Given the description of an element on the screen output the (x, y) to click on. 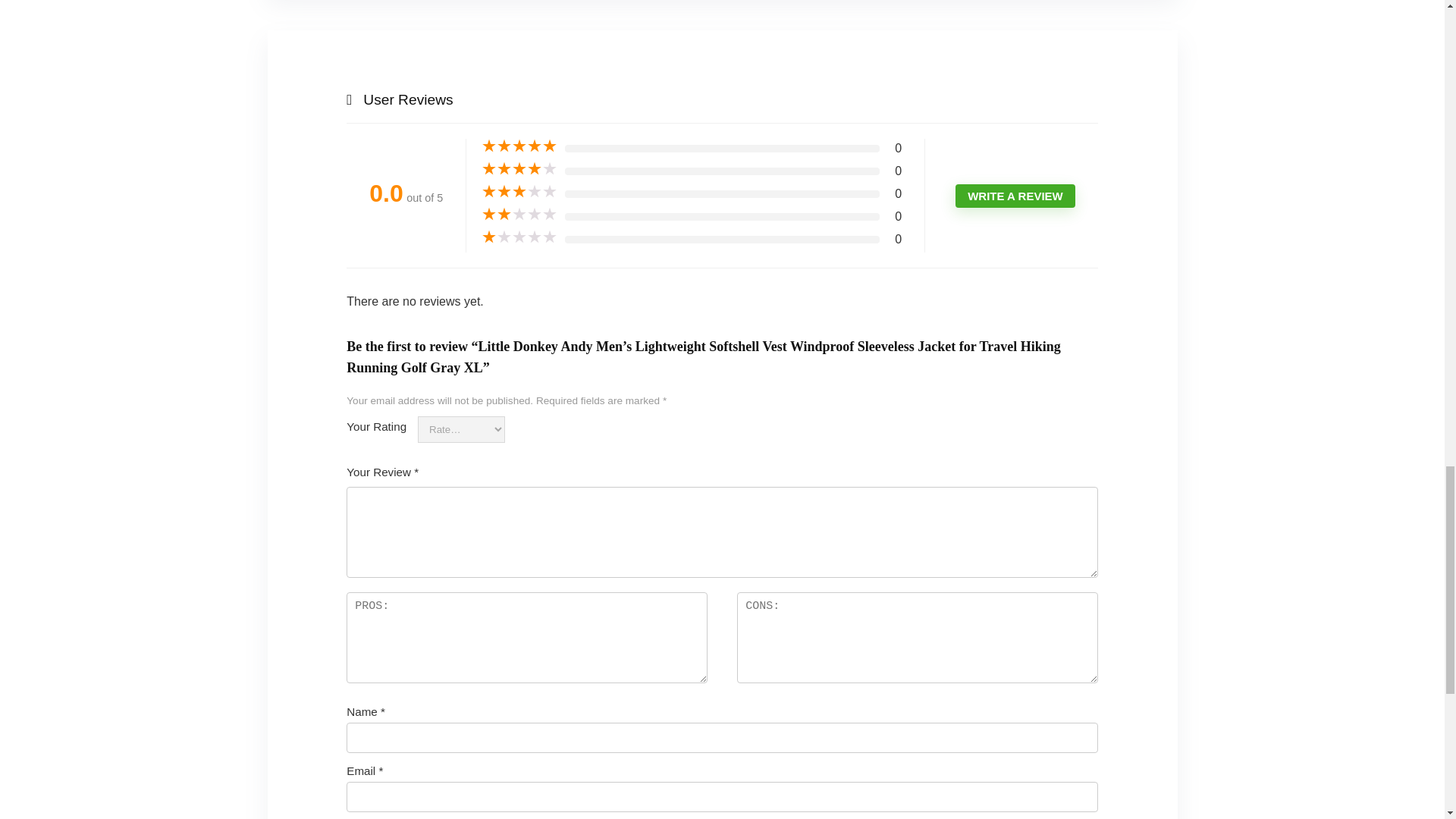
Rated 2 out of 5 (519, 214)
Rated 5 out of 5 (519, 145)
Rated 1 out of 5 (519, 237)
Rated 3 out of 5 (519, 191)
Rated 4 out of 5 (519, 168)
WRITE A REVIEW (1015, 196)
